Given the description of an element on the screen output the (x, y) to click on. 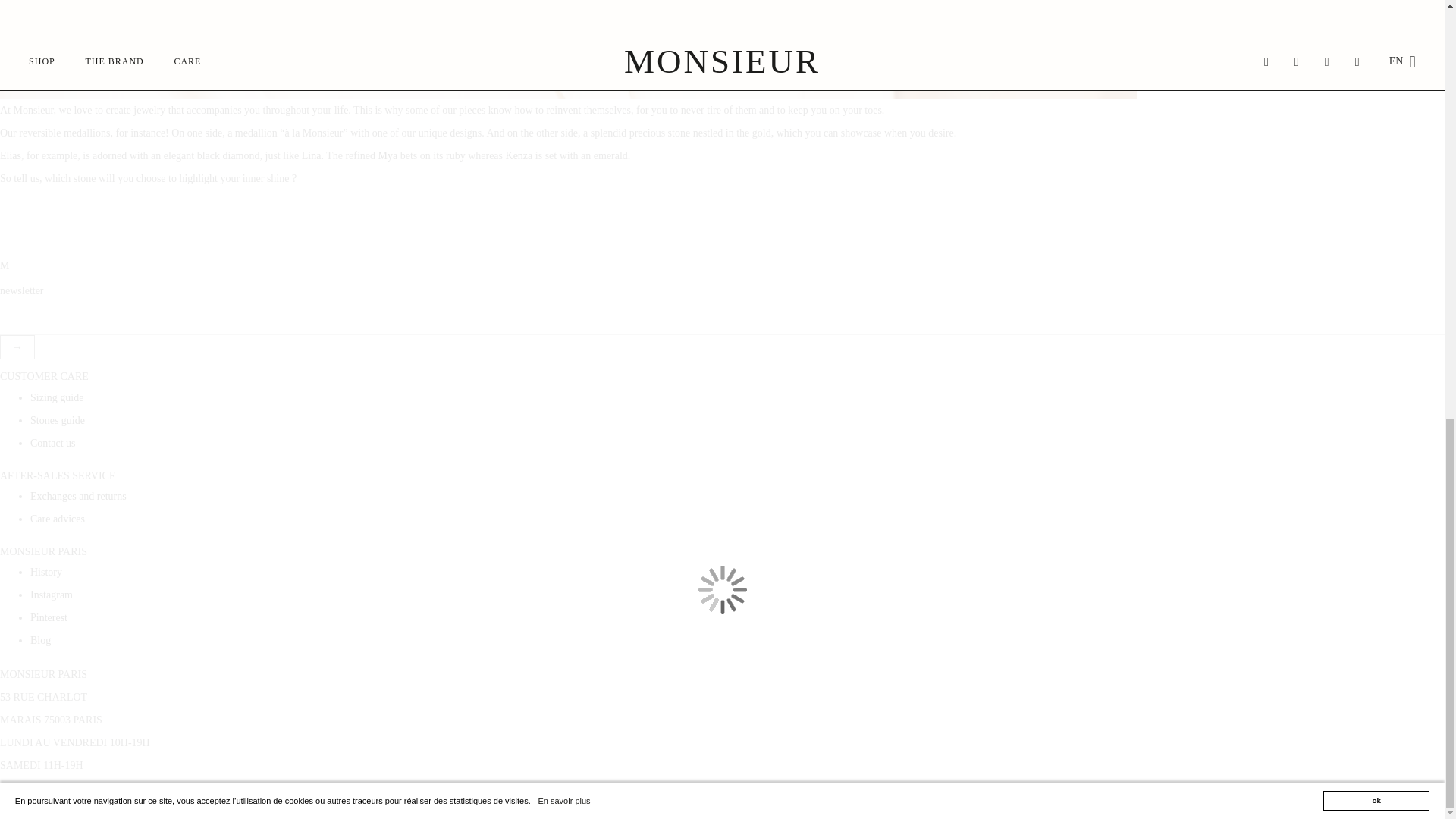
Elias (10, 155)
Mya (387, 155)
Lina (311, 155)
Kenza (518, 155)
send (17, 346)
